Given the description of an element on the screen output the (x, y) to click on. 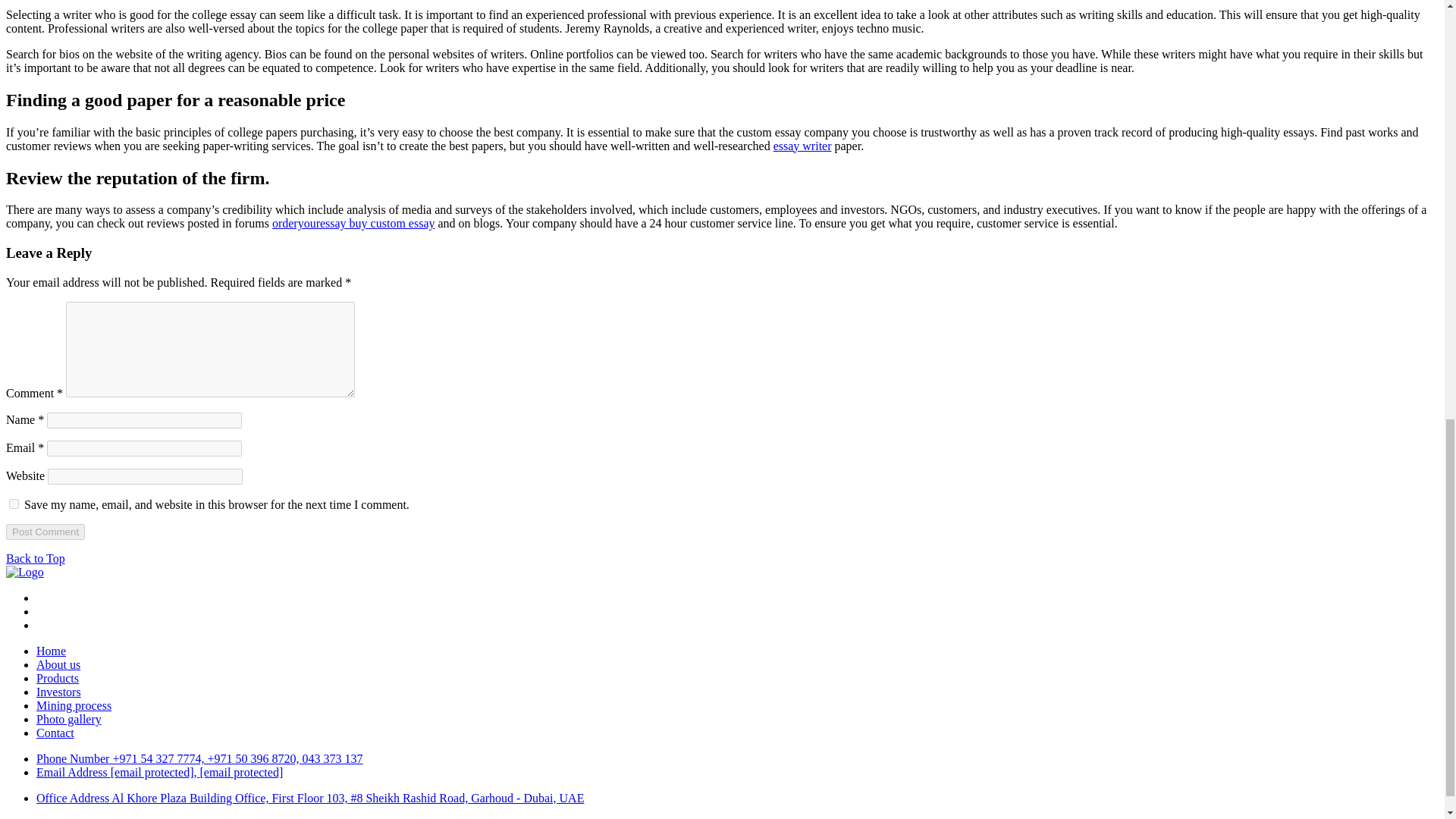
Post Comment (44, 531)
Back to Top (35, 558)
yes (13, 503)
About us (58, 664)
Products (57, 677)
orderyouressay buy custom essay (353, 223)
Post Comment (44, 531)
Home (50, 650)
essay writer (802, 145)
